Given the description of an element on the screen output the (x, y) to click on. 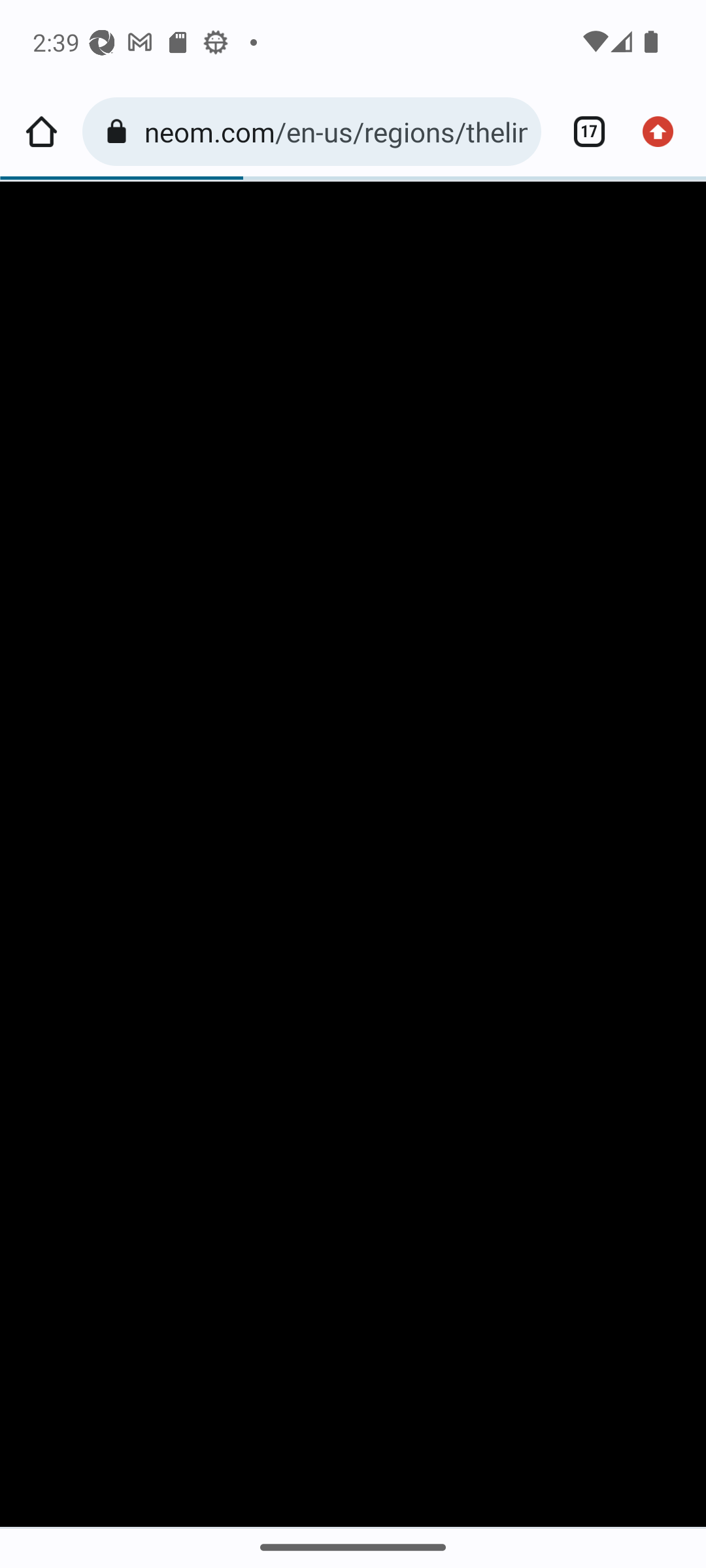
Home (41, 131)
Your connection to this site is not secure (120, 131)
Switch or close tabs (582, 131)
Update available. More options (664, 131)
